Given the description of an element on the screen output the (x, y) to click on. 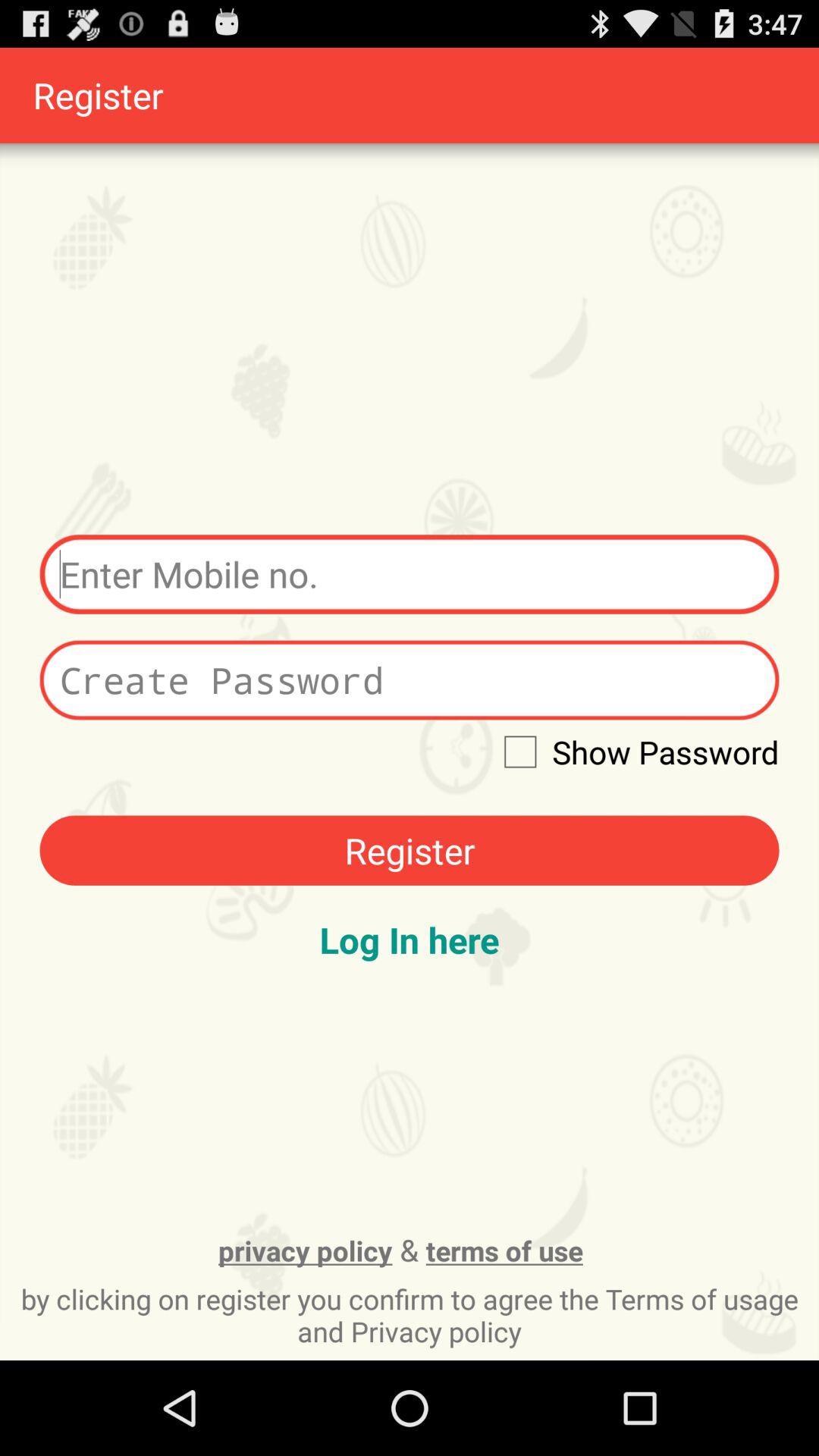
put in password (409, 680)
